Given the description of an element on the screen output the (x, y) to click on. 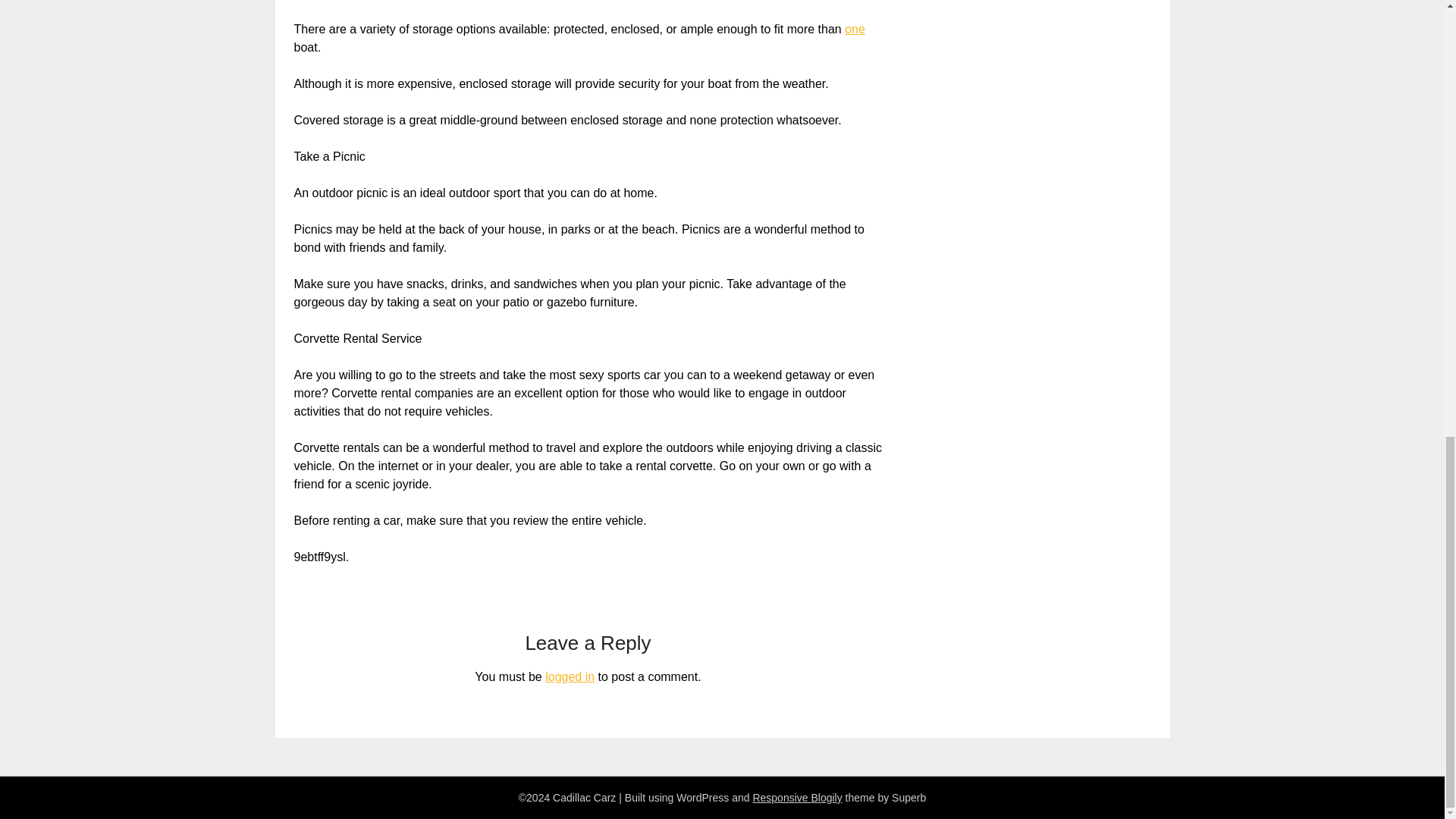
logged in (569, 676)
Responsive Blogily (796, 797)
one (854, 29)
